Given the description of an element on the screen output the (x, y) to click on. 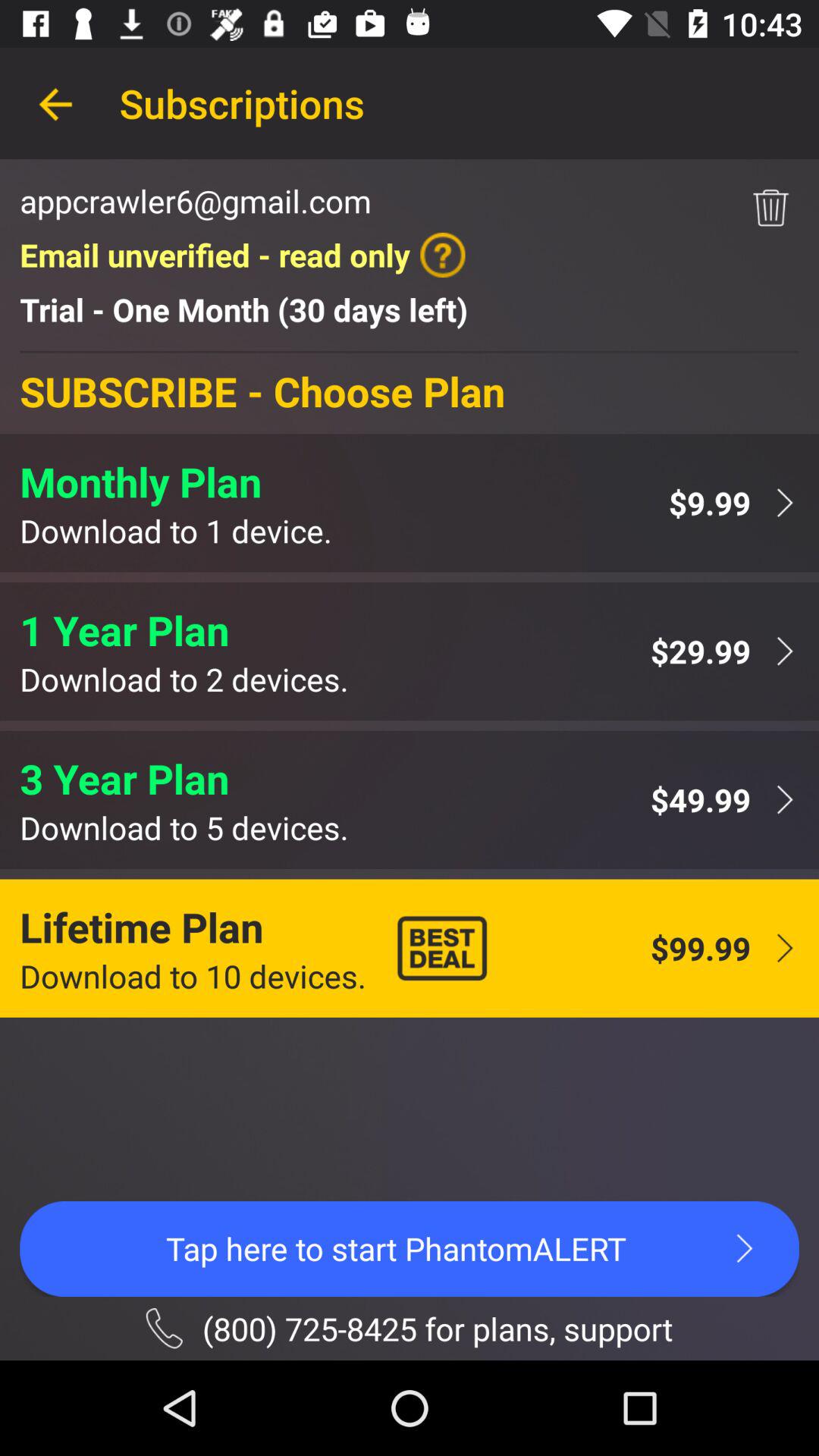
turn off the app to the left of the subscriptions icon (55, 103)
